Given the description of an element on the screen output the (x, y) to click on. 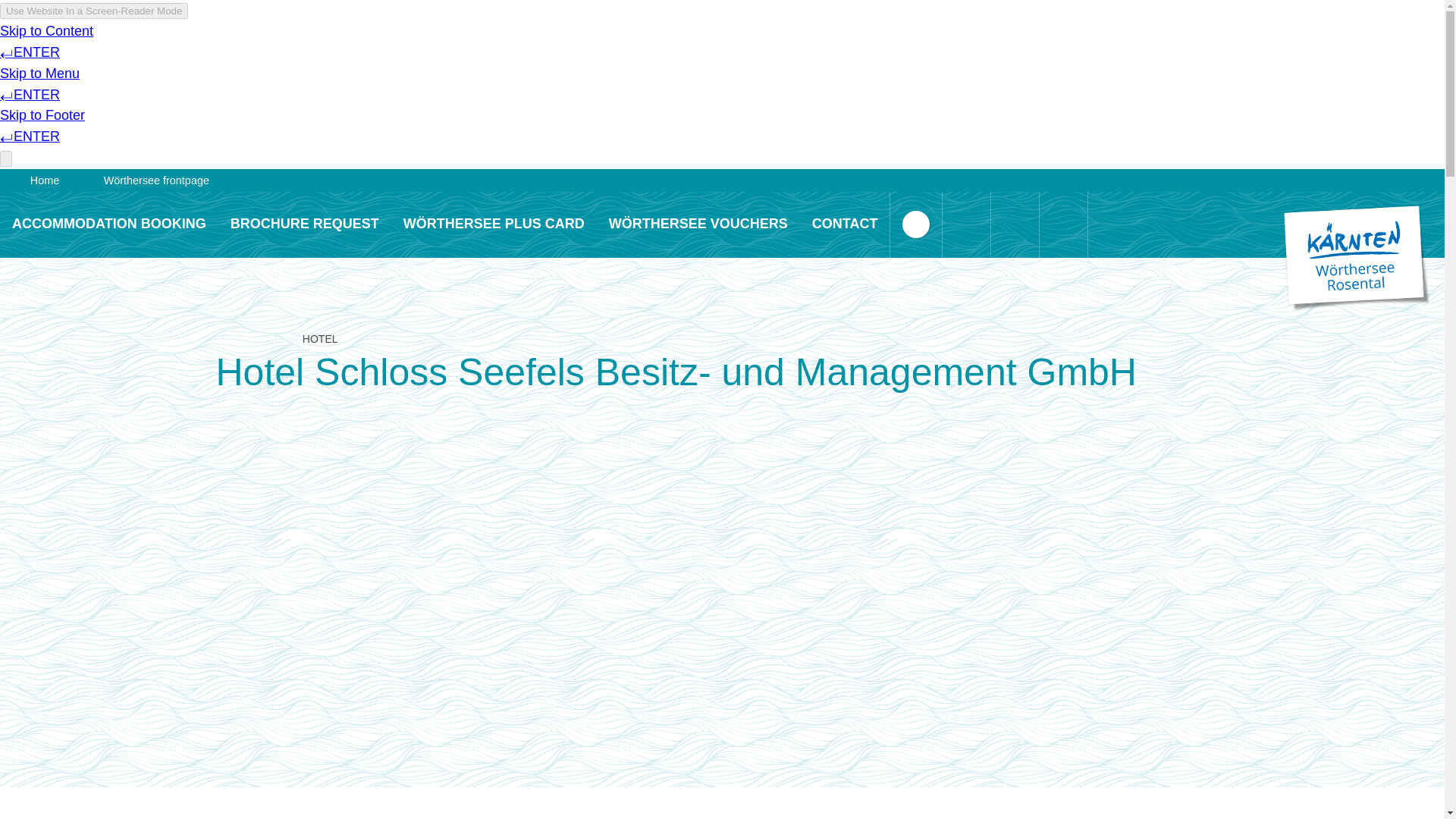
ACCOMMODATION BOOKING (109, 223)
CONTACT (844, 223)
Home (36, 179)
BROCHURE REQUEST (304, 223)
5 Sterne Superior (254, 338)
